Given the description of an element on the screen output the (x, y) to click on. 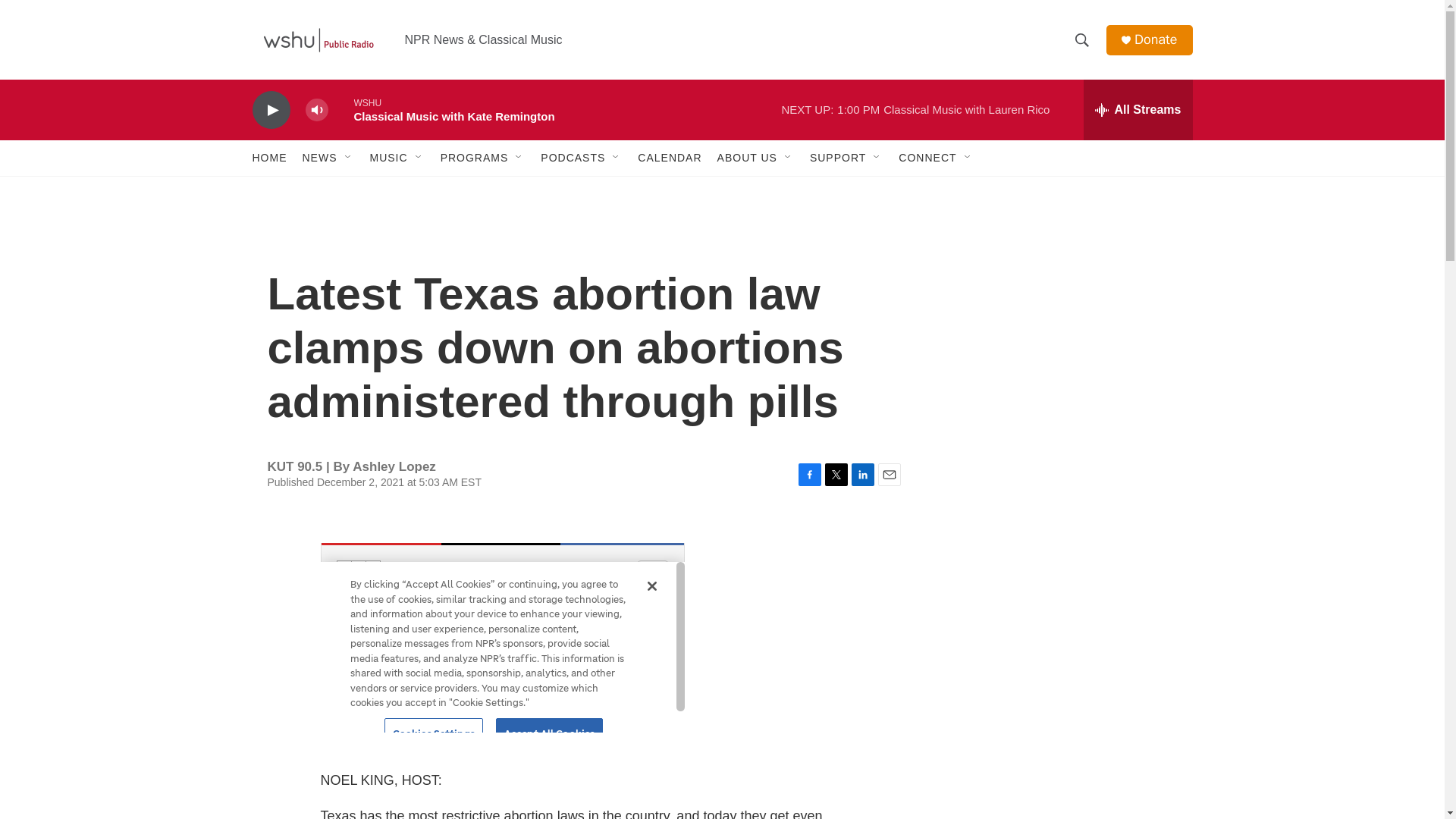
3rd party ad content (1062, 316)
3rd party ad content (1062, 740)
3rd party ad content (1062, 536)
